Given the description of an element on the screen output the (x, y) to click on. 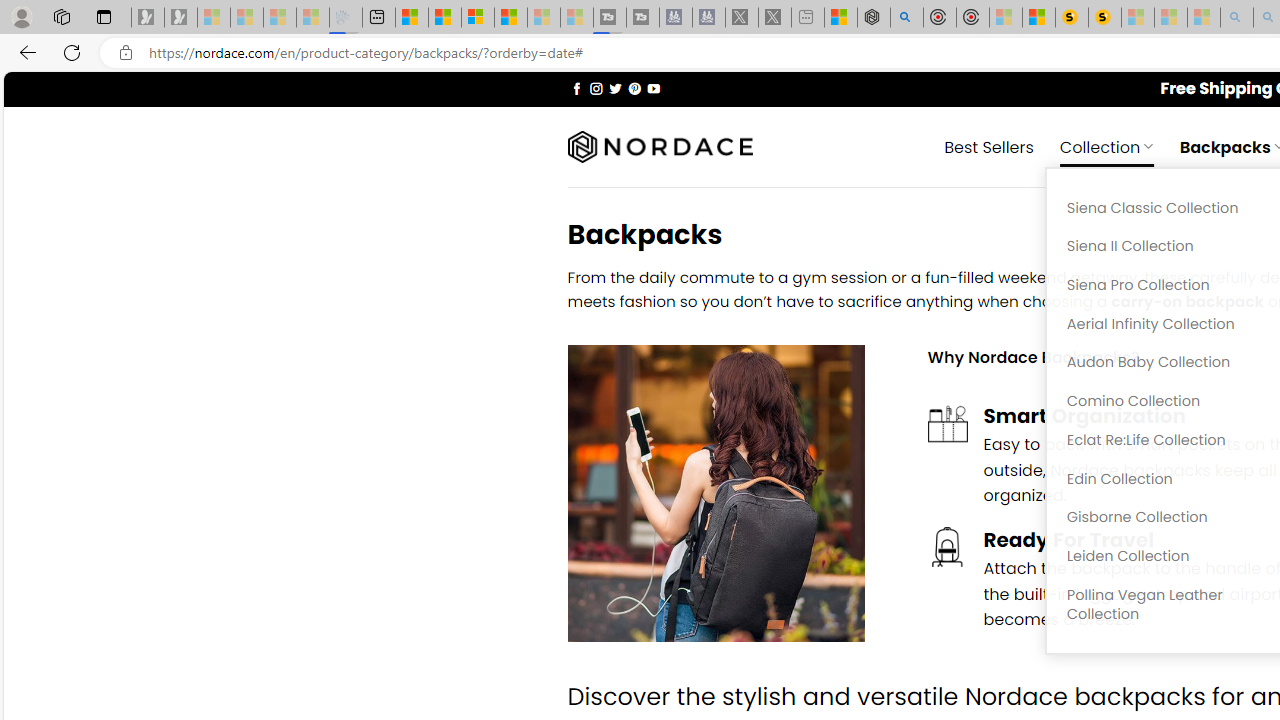
Streaming Coverage | T3 - Sleeping (609, 17)
Follow on Facebook (576, 88)
Nordace - Summer Adventures 2024 (873, 17)
 Best Sellers (989, 146)
Tab actions menu (104, 16)
New tab - Sleeping (808, 17)
  Best Sellers (989, 146)
